Given the description of an element on the screen output the (x, y) to click on. 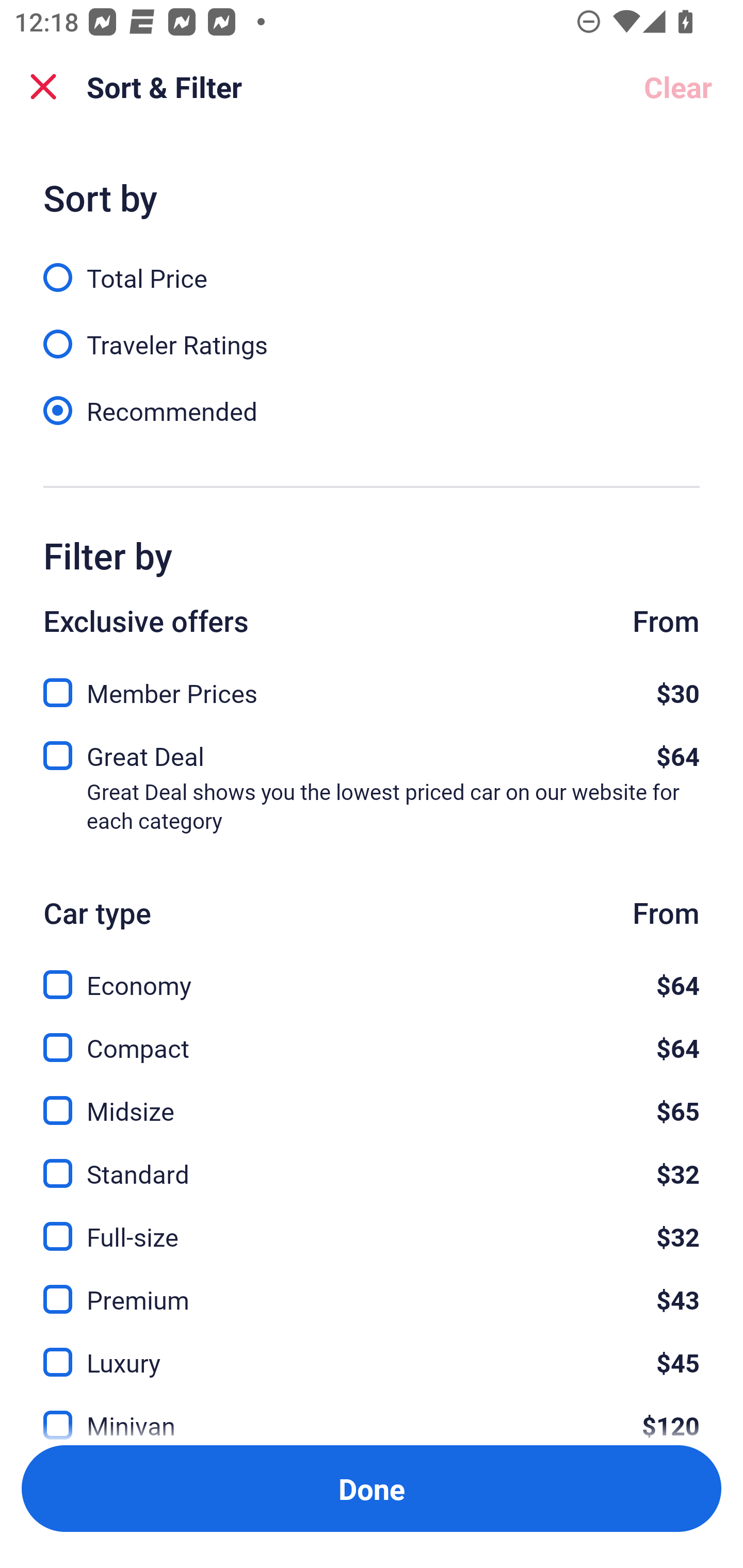
Close Sort and Filter (43, 86)
Clear (677, 86)
Total Price (371, 266)
Traveler Ratings (371, 332)
Member Prices, $30 Member Prices $30 (371, 686)
Economy, $64 Economy $64 (371, 973)
Compact, $64 Compact $64 (371, 1036)
Midsize, $65 Midsize $65 (371, 1098)
Standard, $32 Standard $32 (371, 1161)
Full-size, $32 Full-size $32 (371, 1224)
Premium, $43 Premium $43 (371, 1286)
Luxury, $45 Luxury $45 (371, 1350)
Minivan, $120 Minivan $120 (371, 1413)
Apply and close Sort and Filter Done (371, 1488)
